Given the description of an element on the screen output the (x, y) to click on. 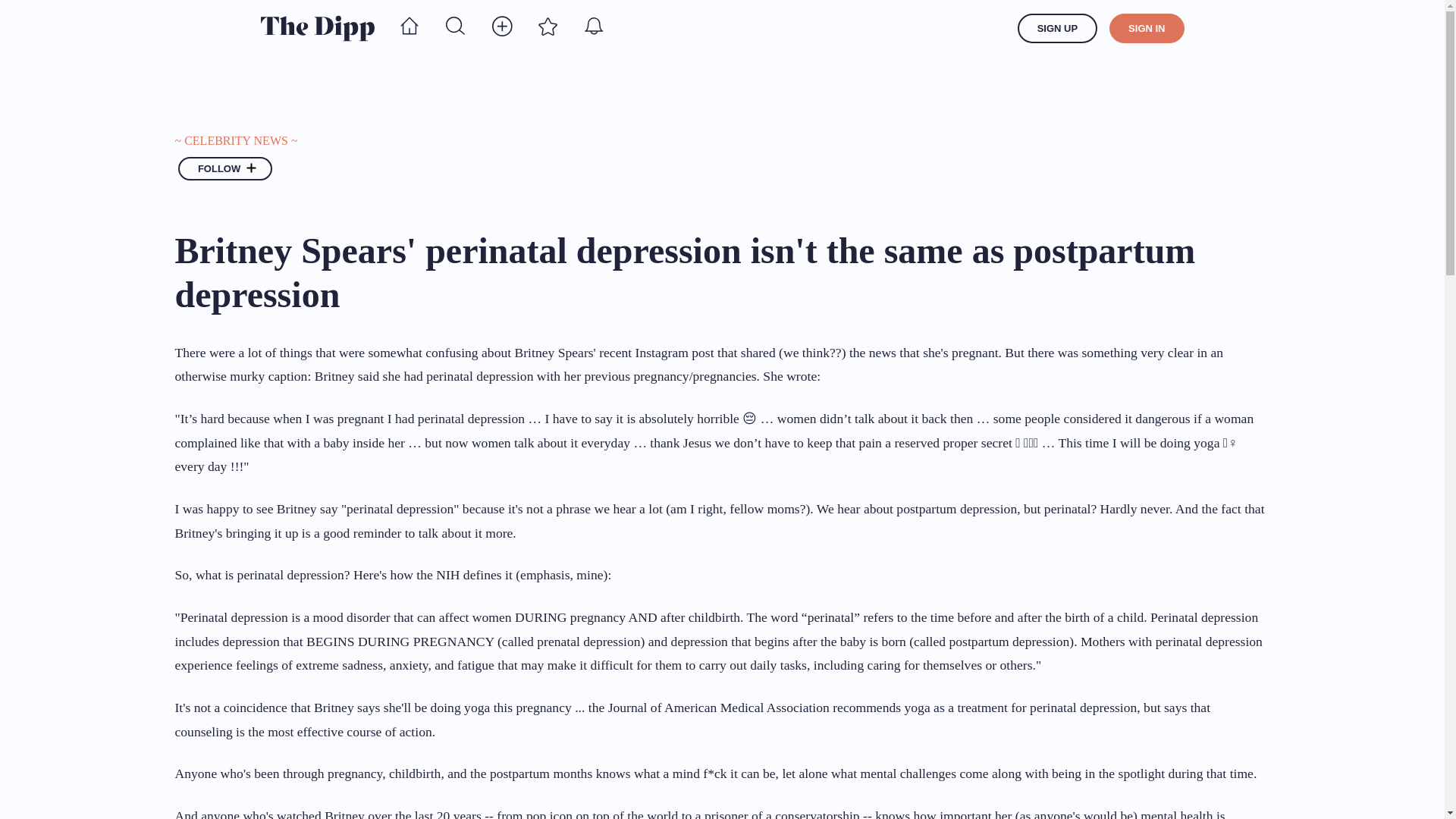
SIGN UP (1057, 28)
SIGN IN (1146, 28)
Dipp (317, 28)
FOLLOW (224, 168)
